Given the description of an element on the screen output the (x, y) to click on. 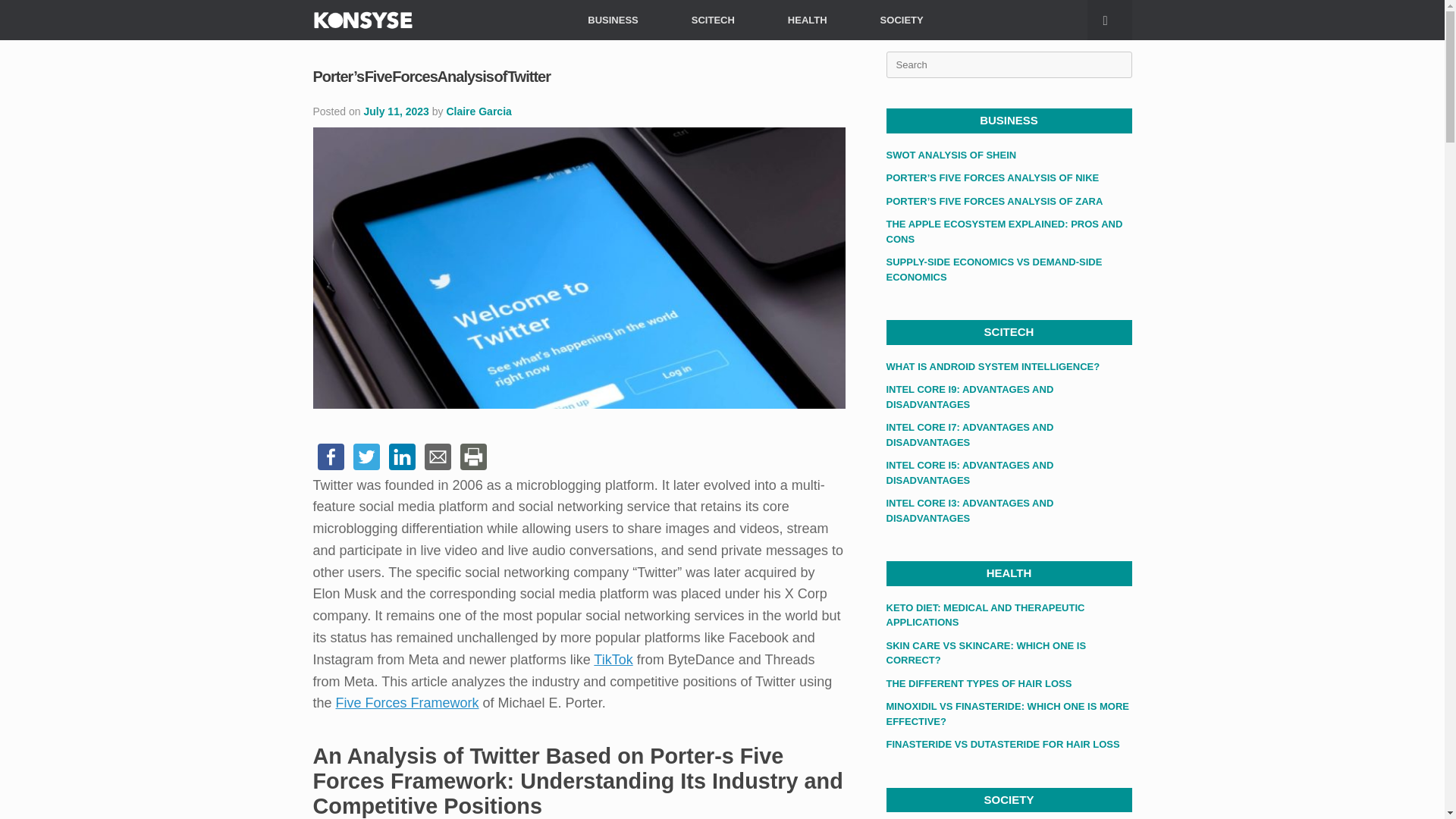
SOCIETY (901, 20)
Konsyse (362, 20)
BUSINESS (611, 20)
INTEL CORE I3: ADVANTAGES AND DISADVANTAGES (968, 510)
INTEL CORE I9: ADVANTAGES AND DISADVANTAGES (968, 397)
HEALTH (807, 20)
INTEL CORE I5: ADVANTAGES AND DISADVANTAGES (968, 472)
SWOT Analysis of Shein (950, 153)
twitter (366, 456)
print (472, 456)
